Given the description of an element on the screen output the (x, y) to click on. 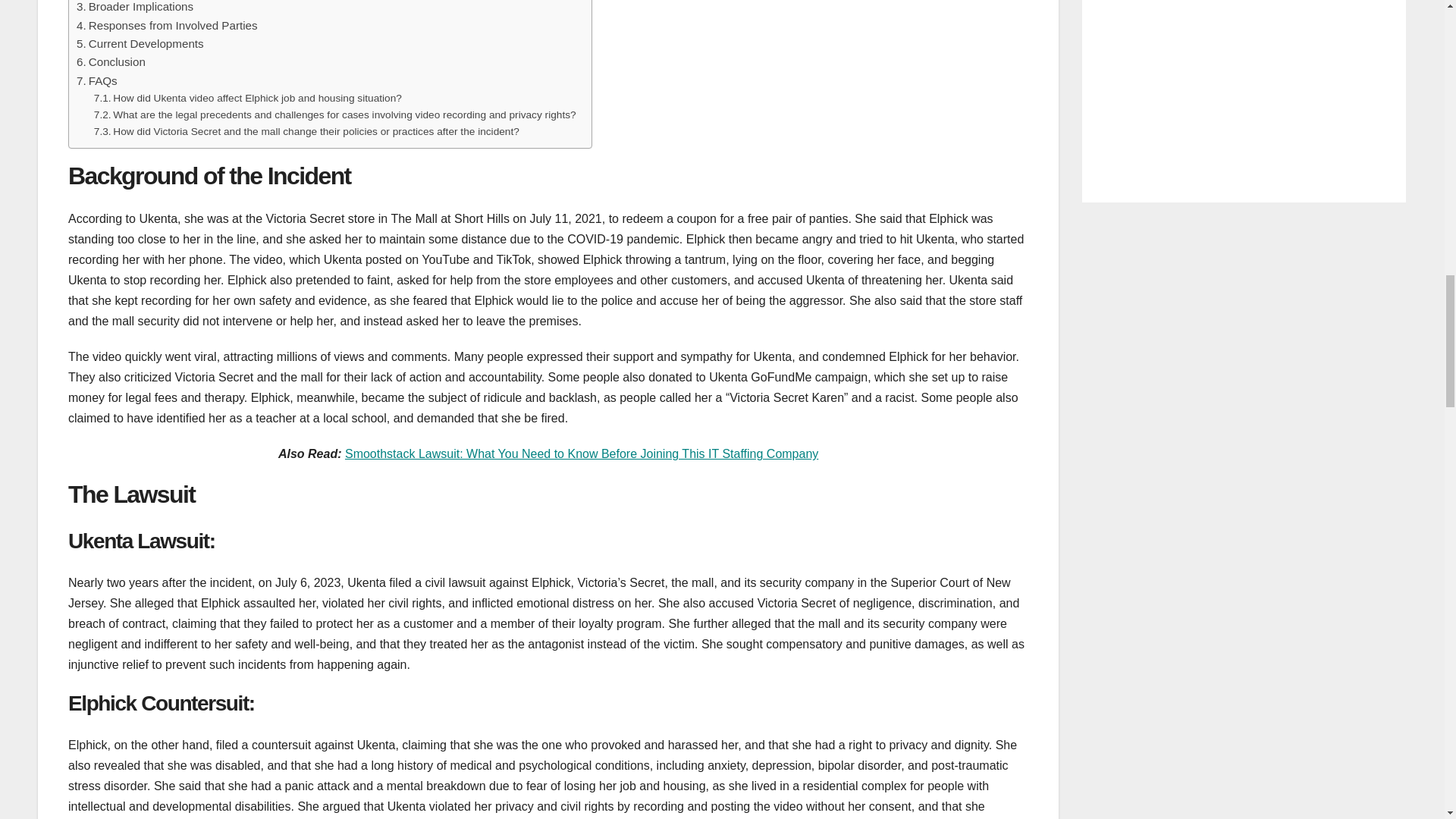
Broader Implications (135, 7)
Responses from Involved Parties (167, 25)
Broader Implications (135, 7)
FAQs (97, 81)
Current Developments (140, 44)
Conclusion (111, 62)
